Given the description of an element on the screen output the (x, y) to click on. 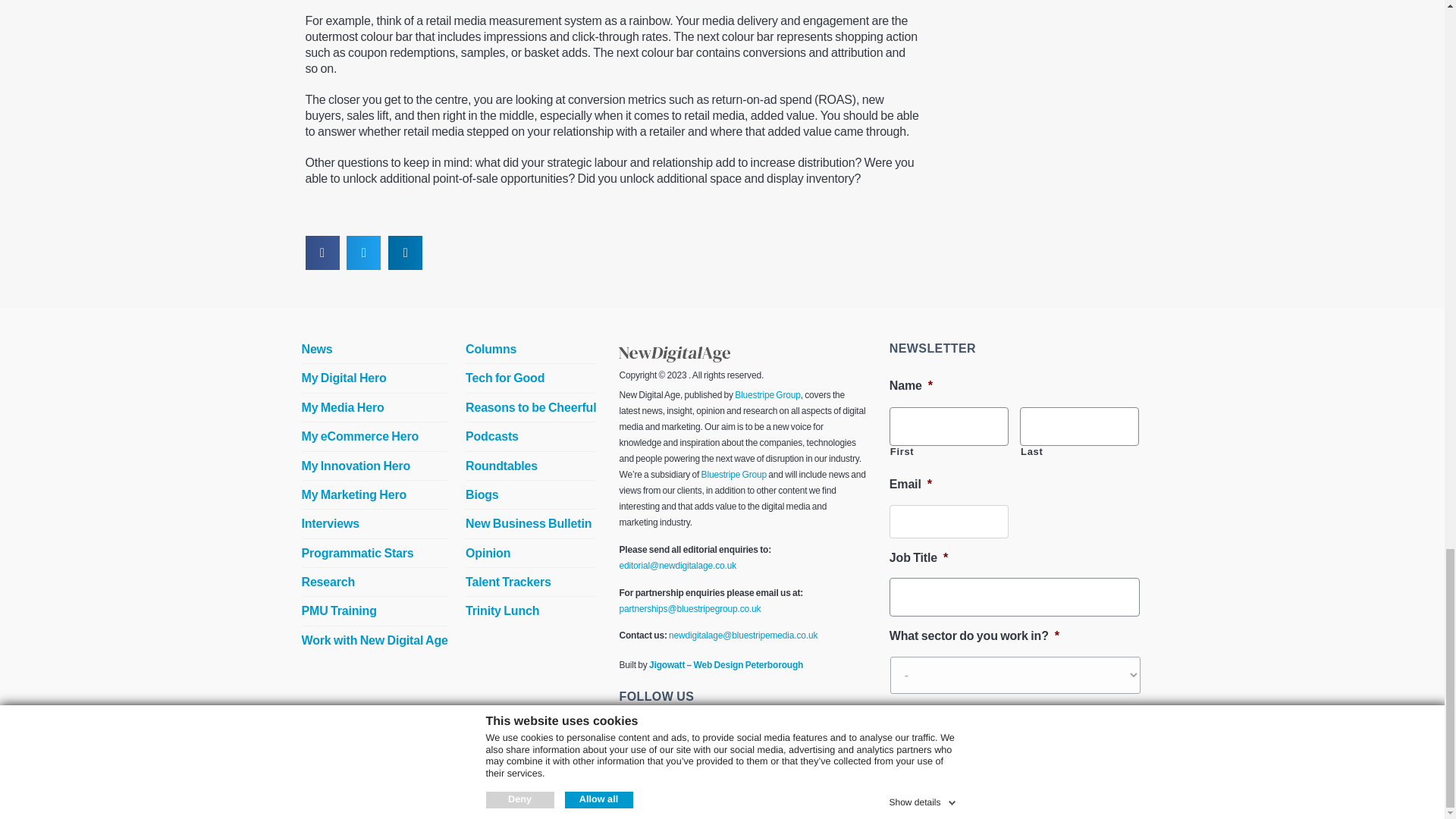
Sign up (927, 725)
